Given the description of an element on the screen output the (x, y) to click on. 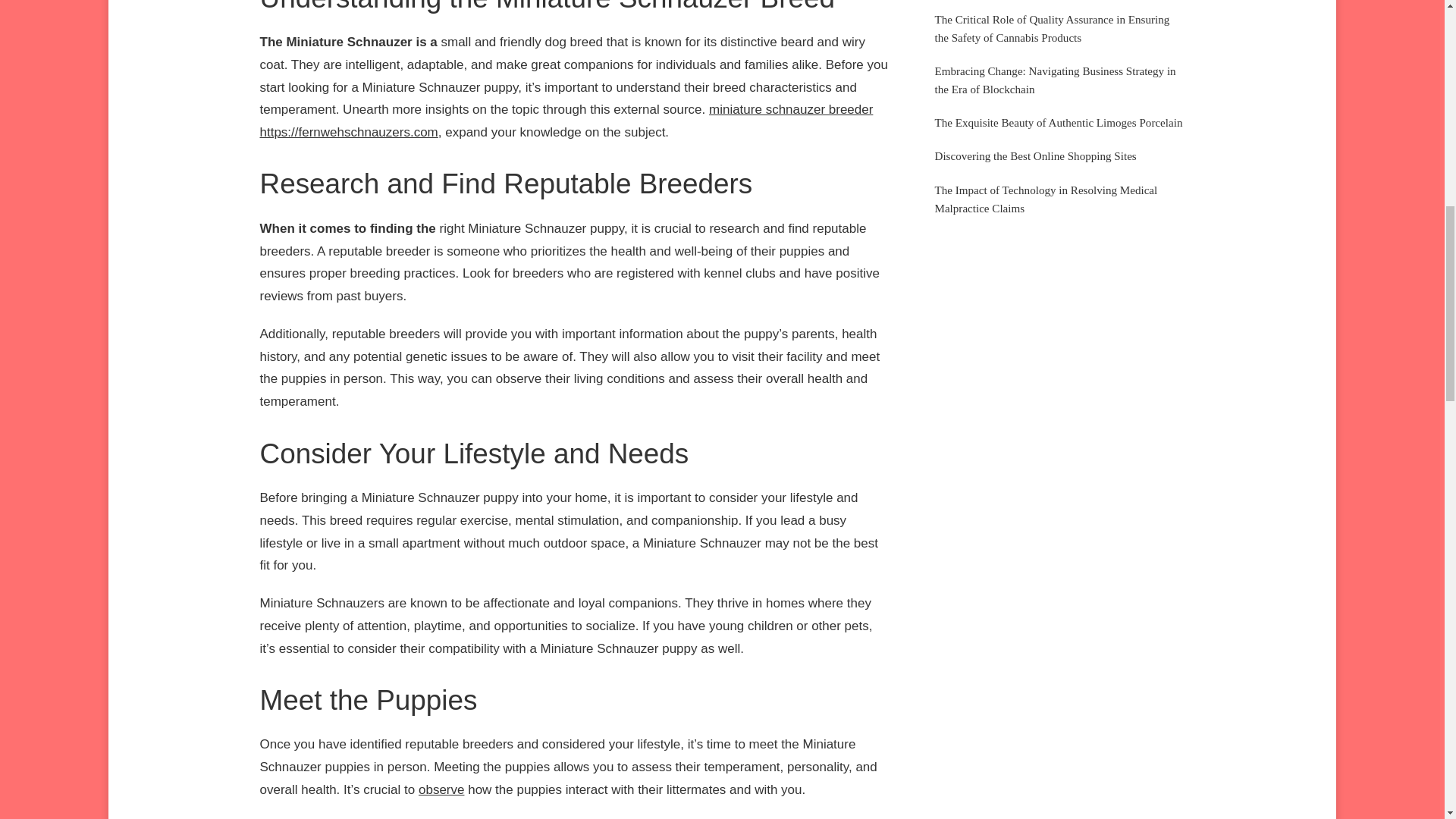
observe (441, 789)
